Given the description of an element on the screen output the (x, y) to click on. 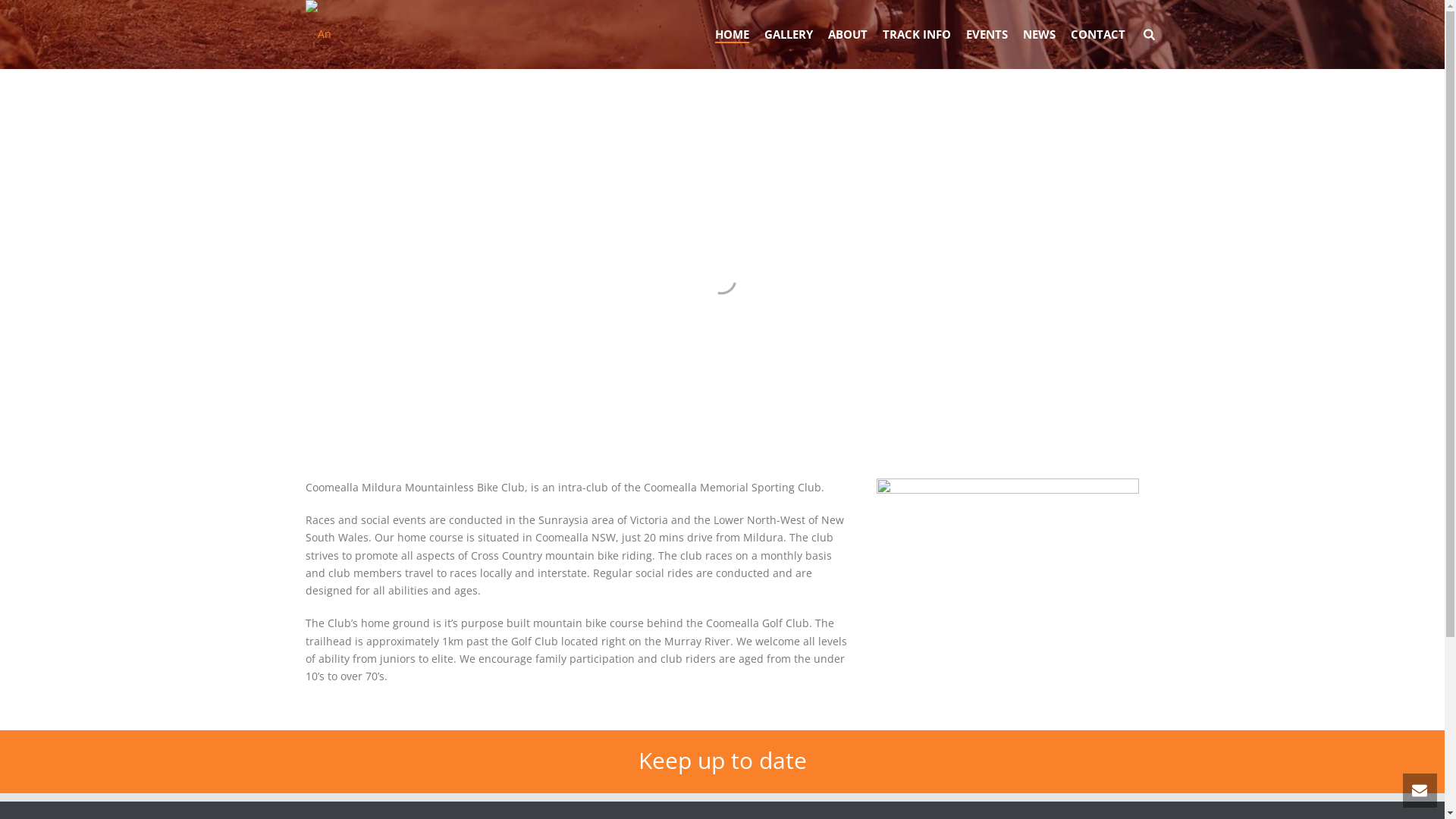
GALLERY Element type: text (788, 34)
TRACK INFO Element type: text (916, 34)
EVENTS Element type: text (986, 34)
ABOUT Element type: text (847, 34)
NEWS Element type: text (1039, 34)
CONTACT Element type: text (1097, 34)
HOME Element type: text (731, 34)
An intra-club of the Coomealla Memorial Sporting Club Element type: hover (330, 34)
